Given the description of an element on the screen output the (x, y) to click on. 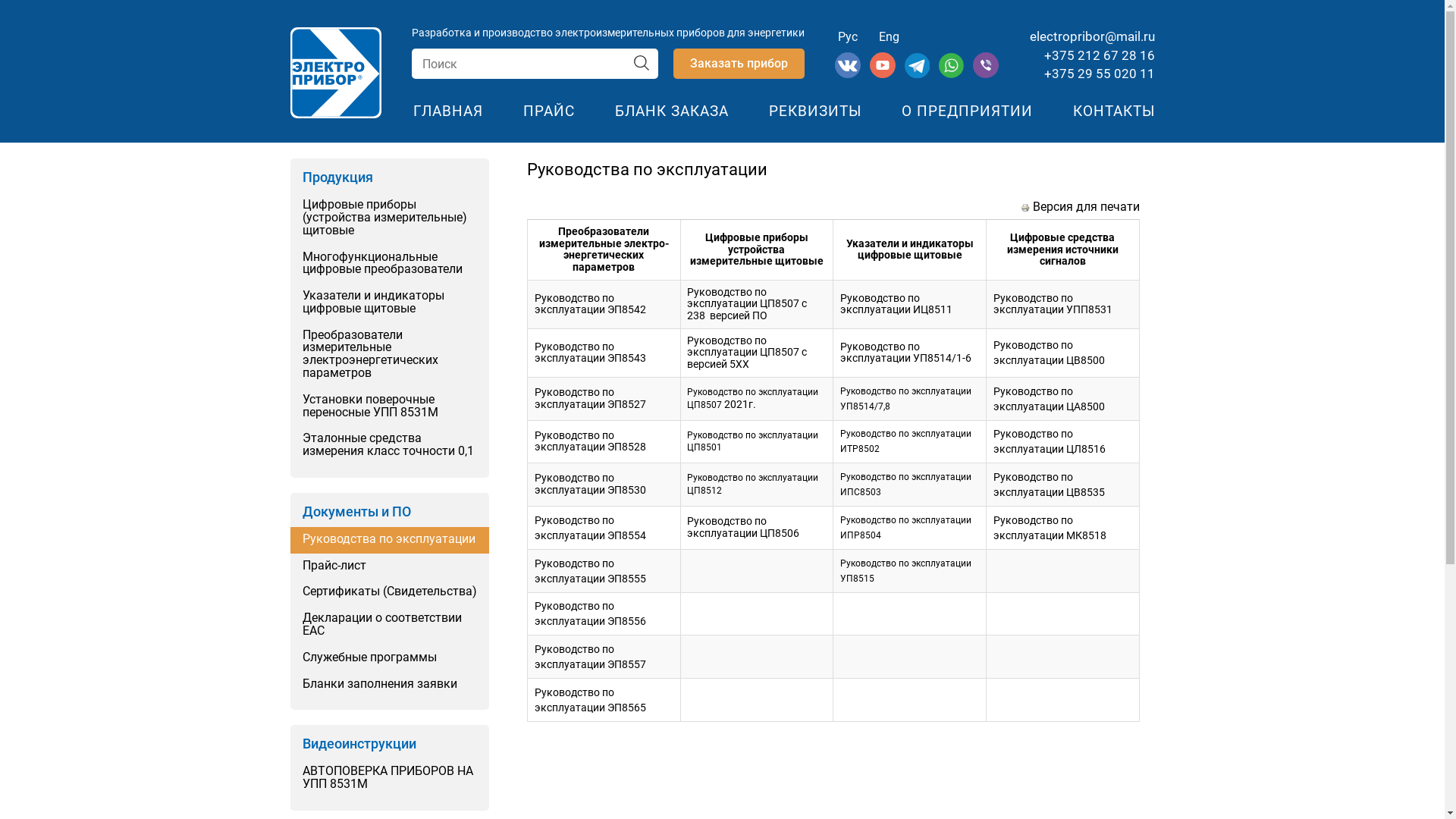
+375 212 67 28 16 Element type: text (1098, 54)
Viber Element type: hover (985, 73)
Eng Element type: text (889, 36)
Telegram Element type: hover (918, 73)
electropribor@mail.ru Element type: text (1091, 35)
WhatsApp Element type: hover (952, 73)
+375 29 55 020 11 Element type: text (1098, 73)
